Given the description of an element on the screen output the (x, y) to click on. 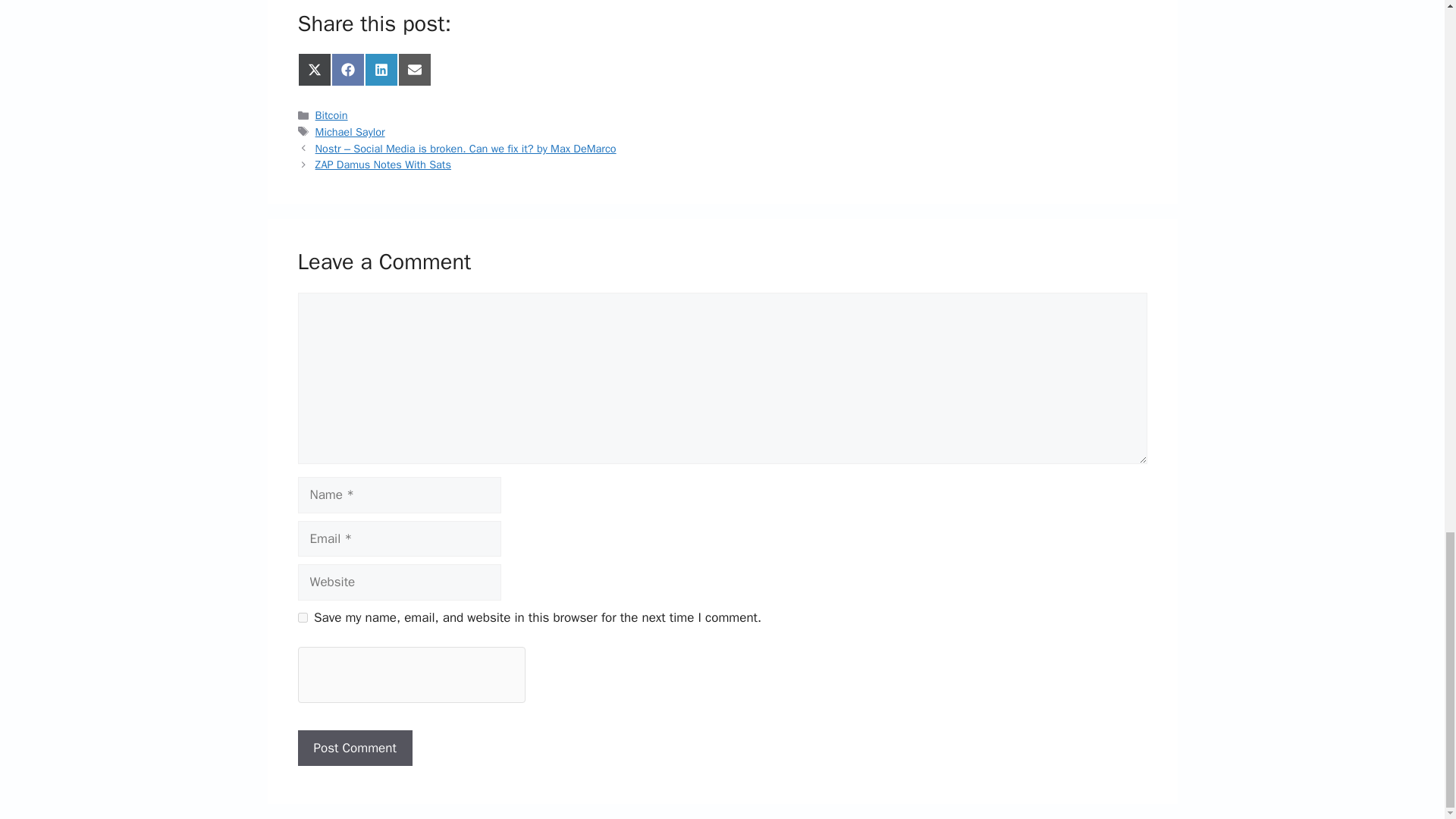
Share on LinkedIn (380, 69)
Post Comment (354, 748)
Michael Saylor (350, 131)
Share on Facebook (347, 69)
Bitcoin (331, 115)
Share on Email (413, 69)
yes (302, 617)
